Given the description of an element on the screen output the (x, y) to click on. 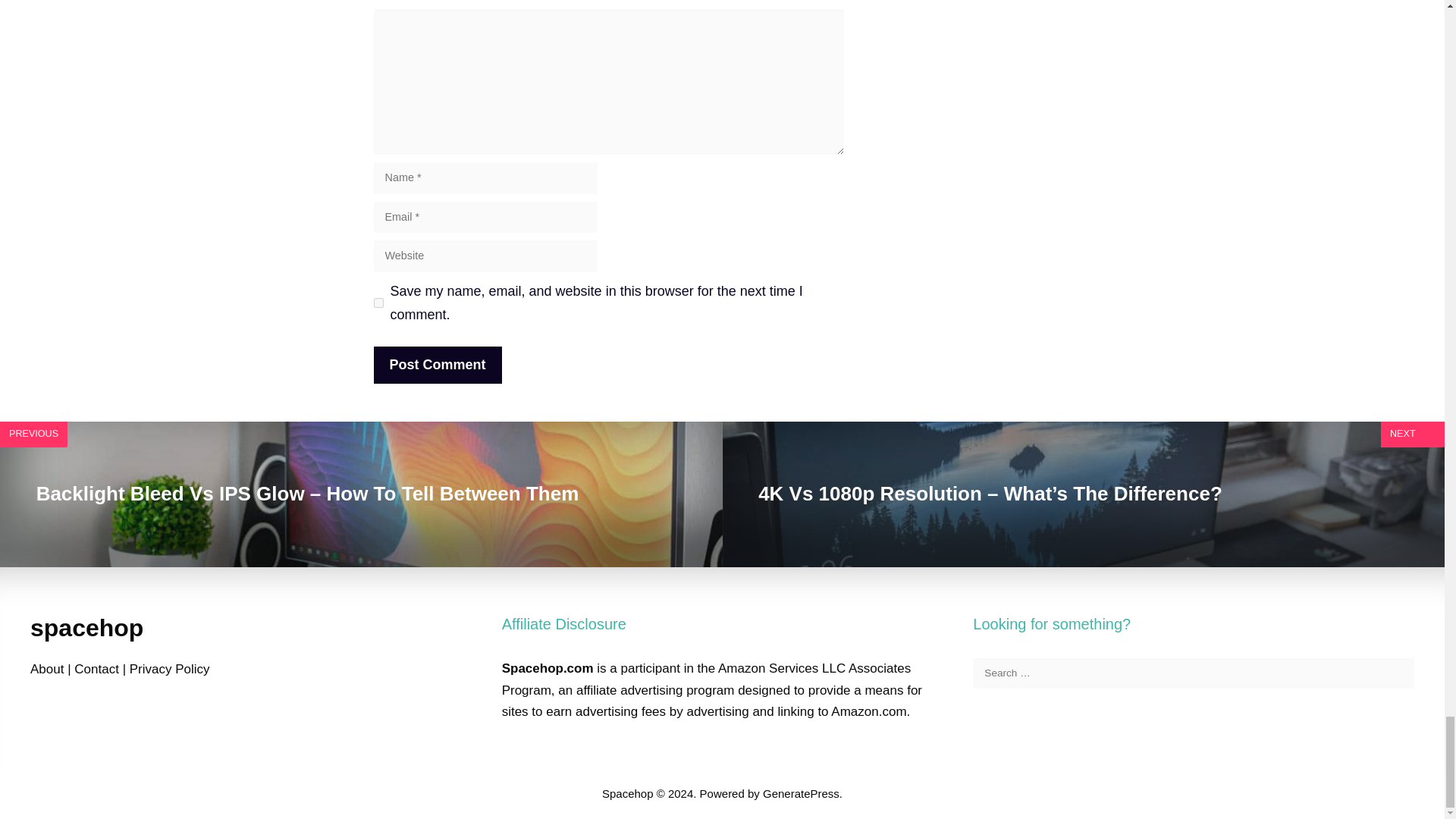
yes (377, 302)
Post Comment (436, 365)
Search for: (1192, 673)
